Given the description of an element on the screen output the (x, y) to click on. 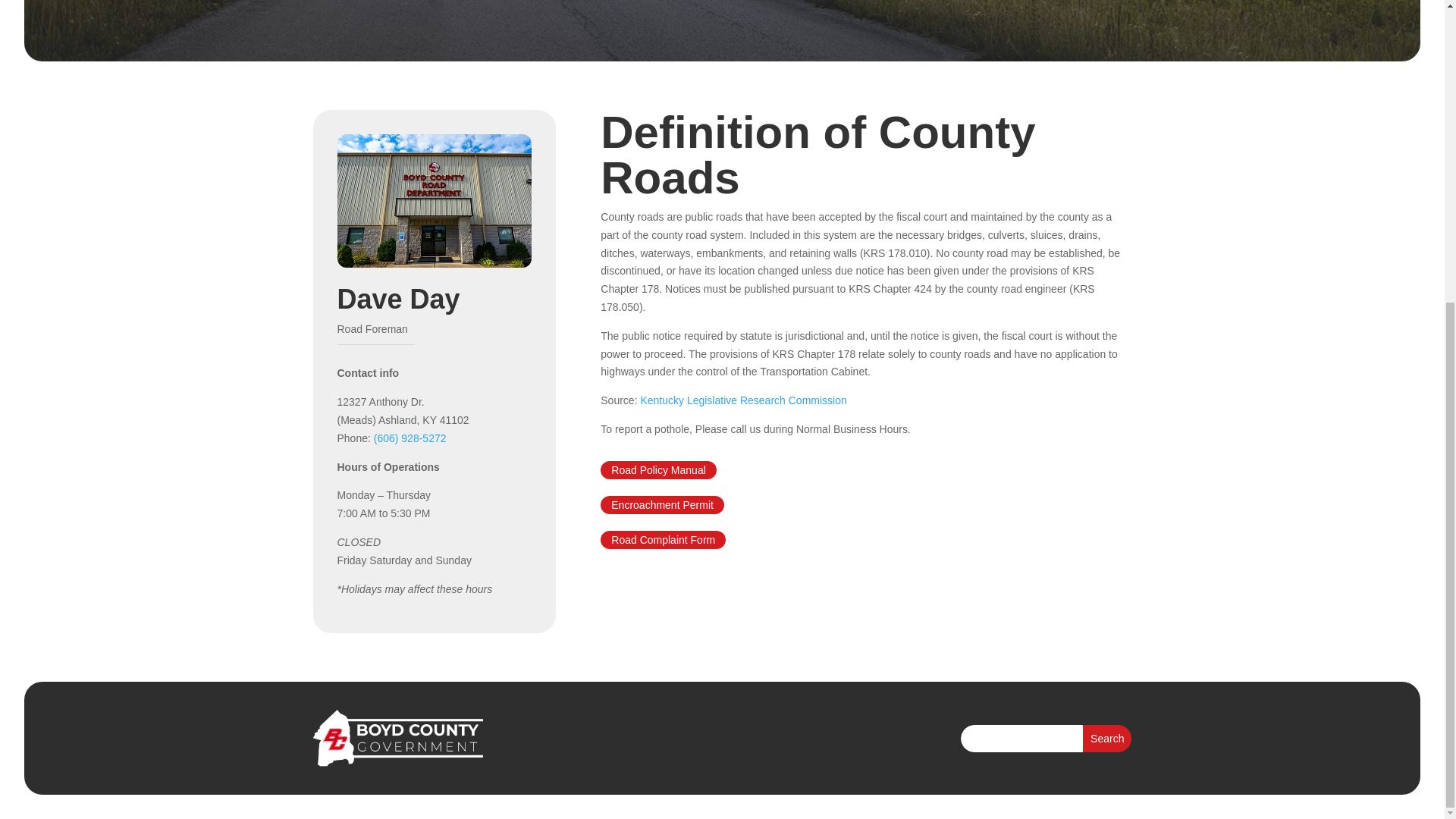
ReversedBCLogo (398, 738)
Version 1 (662, 539)
Search (1107, 738)
Photo Aug 15, 8 29 23 AM (433, 200)
Search (1107, 738)
